Given the description of an element on the screen output the (x, y) to click on. 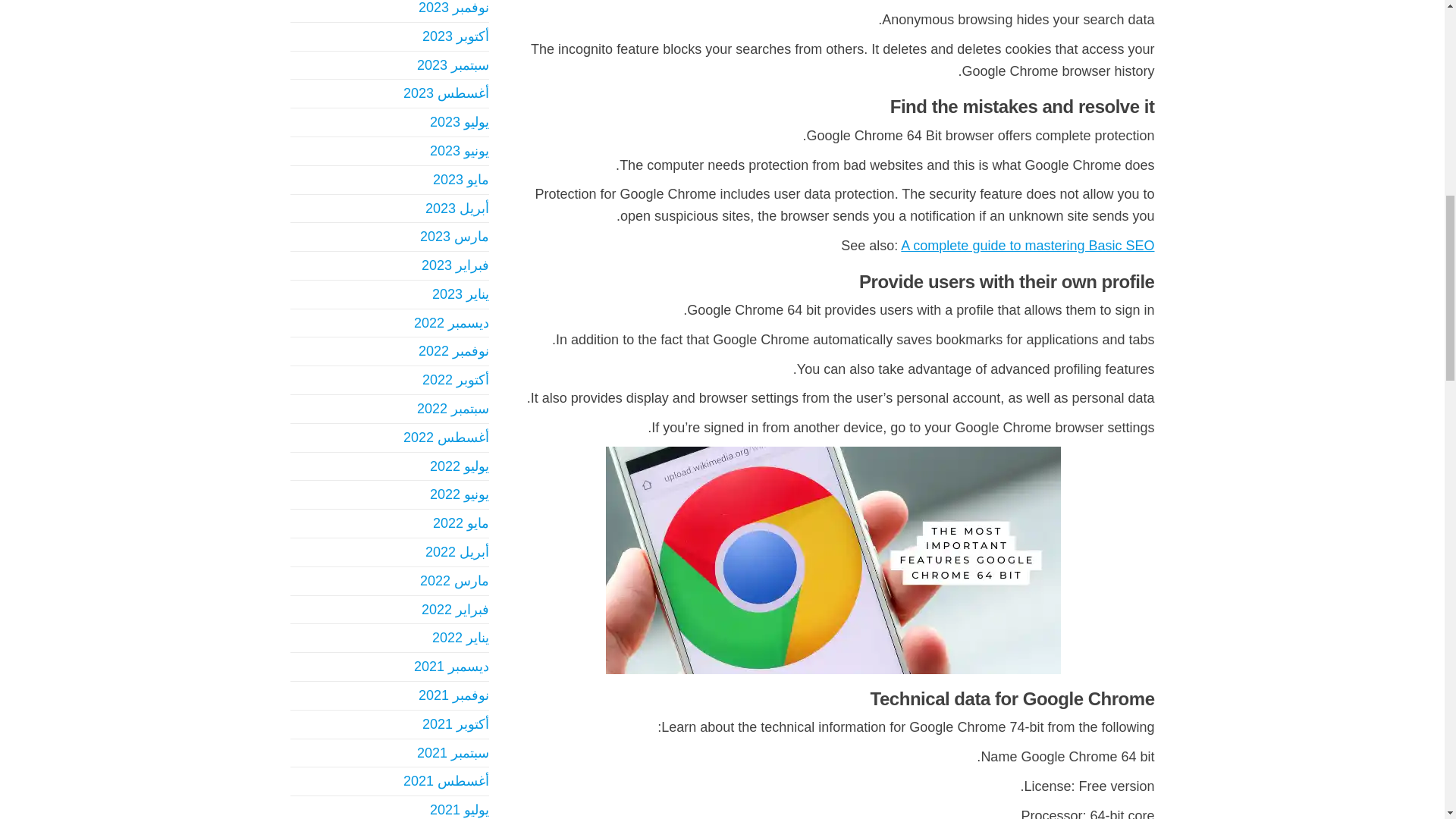
A complete guide to mastering Basic SEO (1027, 245)
